Given the description of an element on the screen output the (x, y) to click on. 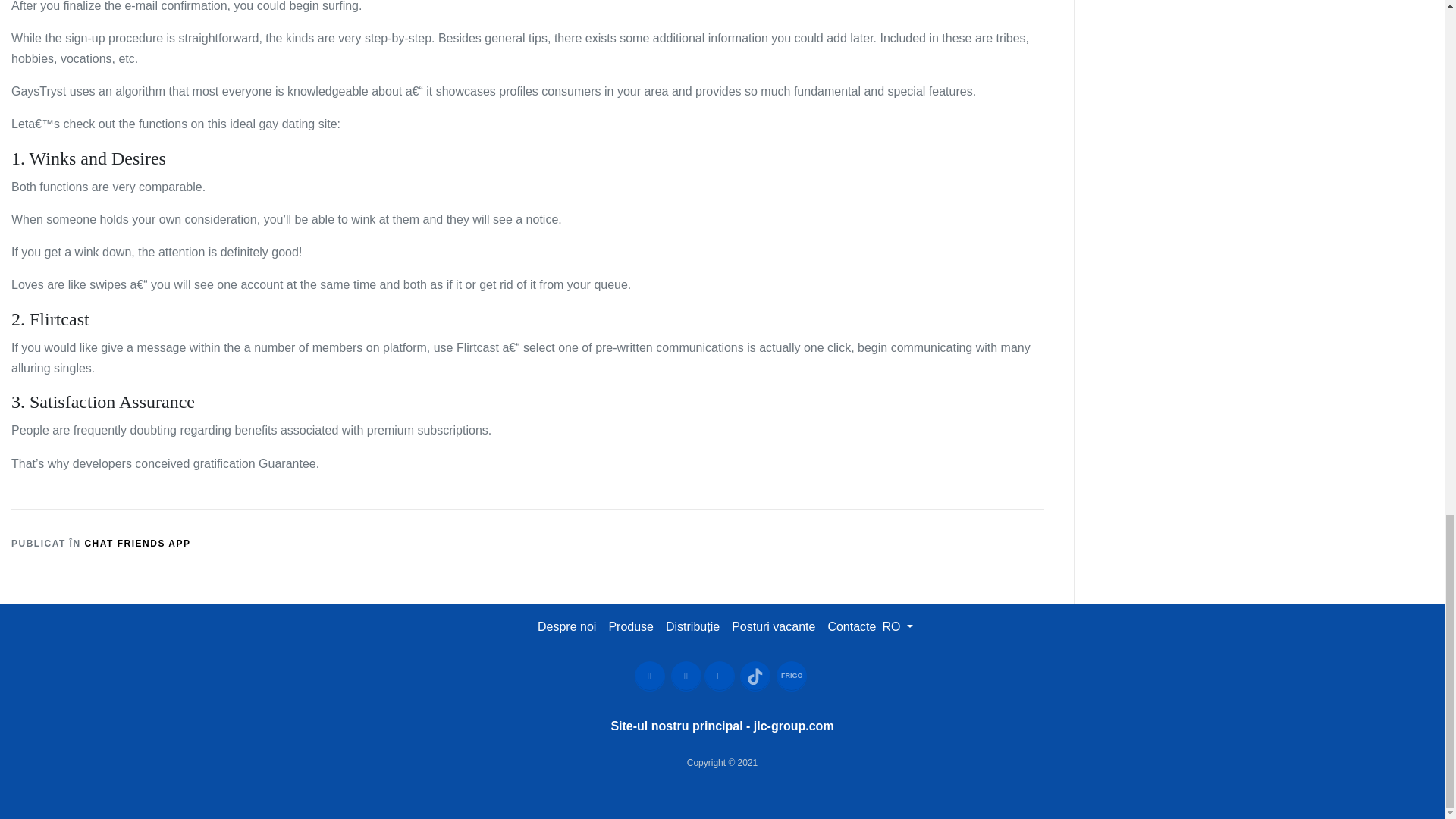
RO (897, 626)
Produse (630, 626)
CHAT FRIENDS APP (137, 543)
FRIGO (791, 675)
Posturi vacante (773, 626)
jlc-group.com (794, 725)
Produse (630, 626)
Contacte (851, 626)
Contacte (851, 626)
Despre noi (566, 626)
